Given the description of an element on the screen output the (x, y) to click on. 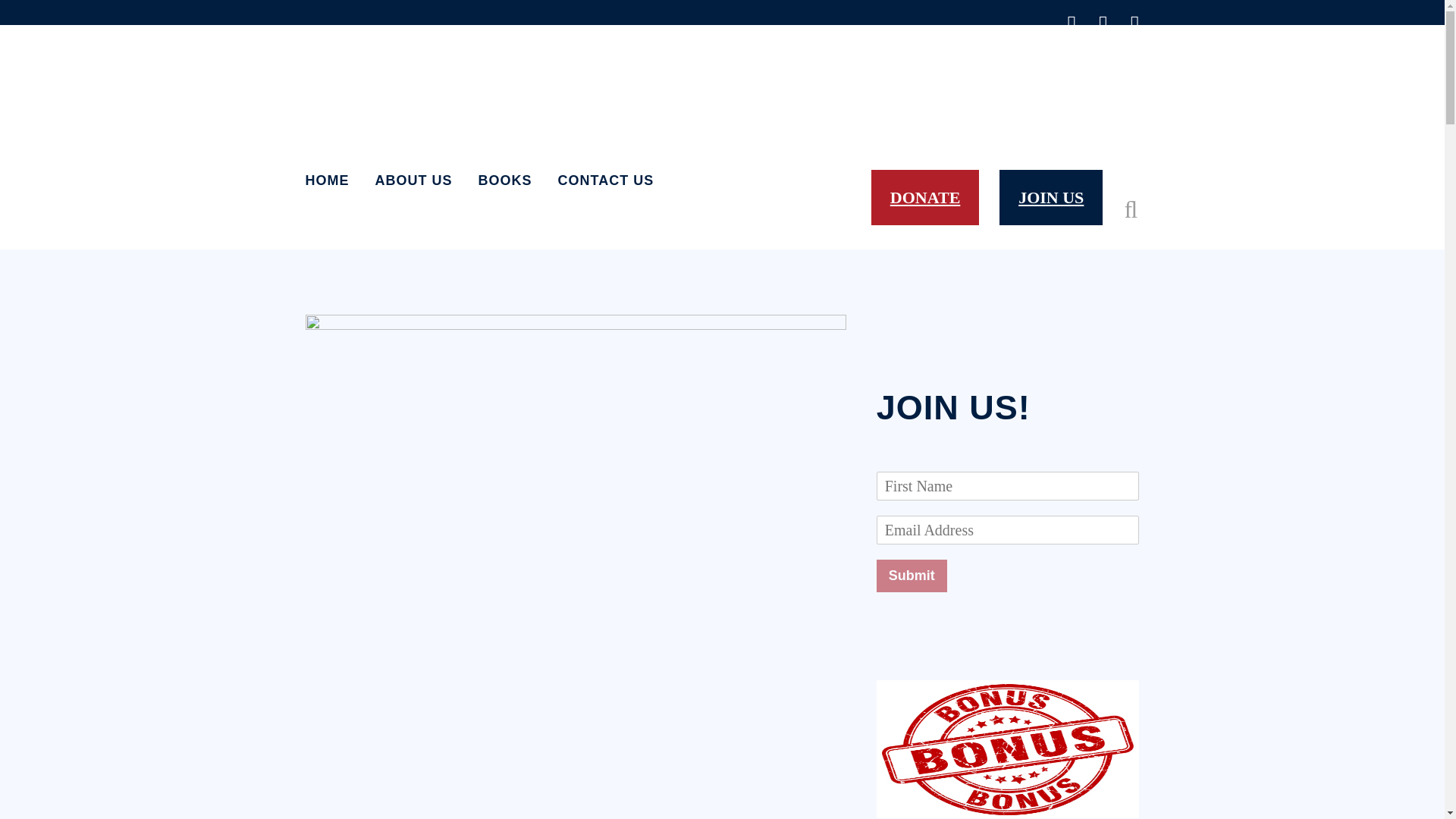
JOIN US (1050, 197)
CONTACT US (605, 180)
HOME (332, 180)
Submit (911, 575)
BOOKS (504, 180)
DONATE (924, 197)
ABOUT US (413, 180)
